Given the description of an element on the screen output the (x, y) to click on. 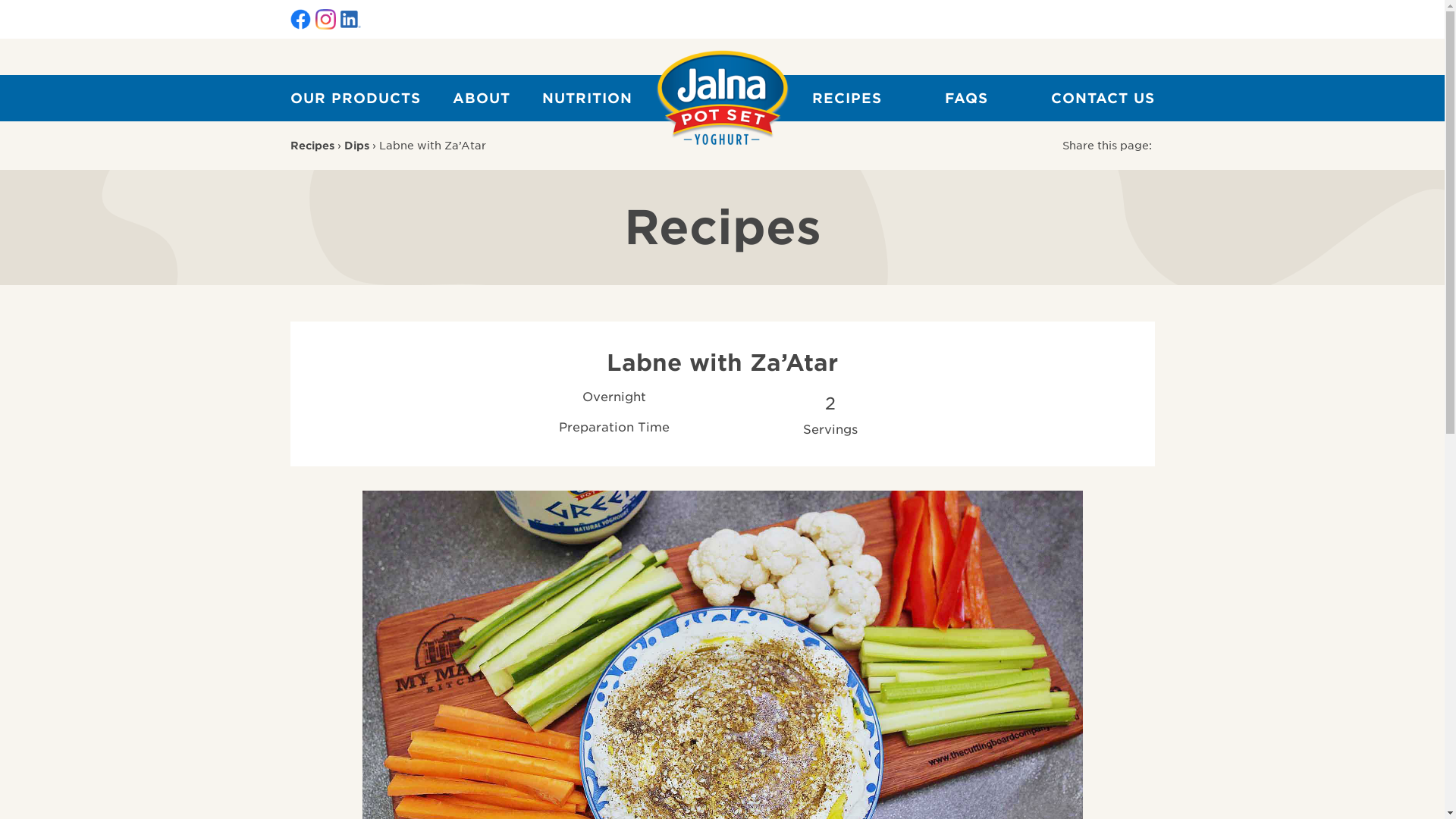
Recipes Element type: text (311, 146)
Dips Element type: text (356, 146)
RECIPES Element type: text (847, 98)
NUTRITION Element type: text (587, 98)
OUR PRODUCTS Element type: text (357, 98)
ABOUT Element type: text (481, 98)
FAQS Element type: text (966, 98)
CONTACT US Element type: text (1099, 98)
